Given the description of an element on the screen output the (x, y) to click on. 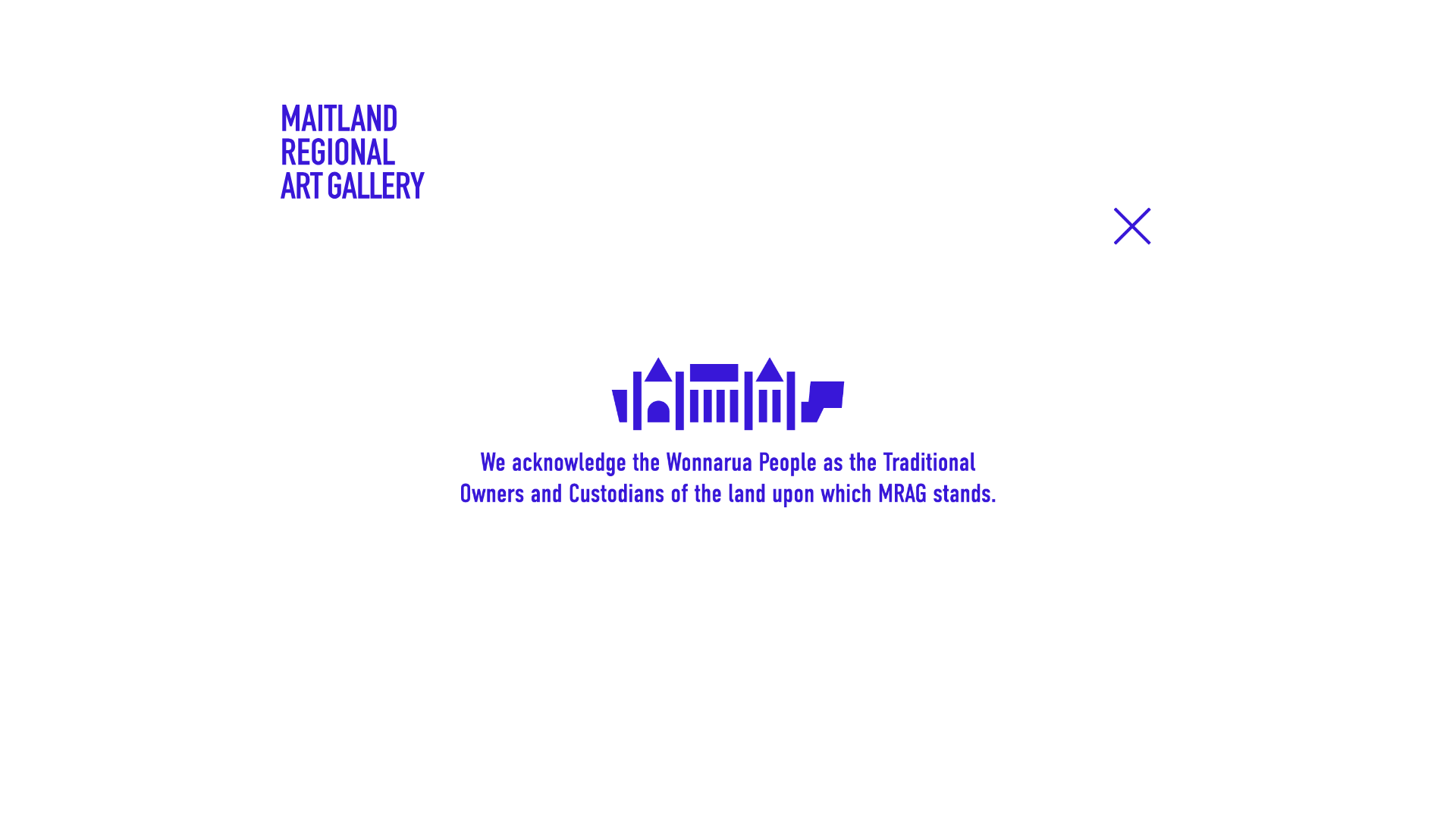
Visit Us Element type: text (746, 191)
Past Element type: text (296, 768)
About Element type: text (1153, 191)
Education Element type: text (949, 191)
Collection Element type: text (843, 191)
EXHIBITIONS Element type: text (345, 693)
Exhibitions Element type: text (540, 191)
Support Us Element type: text (1059, 191)
Current & Future Element type: text (343, 738)
Touring Element type: text (307, 799)
